Given the description of an element on the screen output the (x, y) to click on. 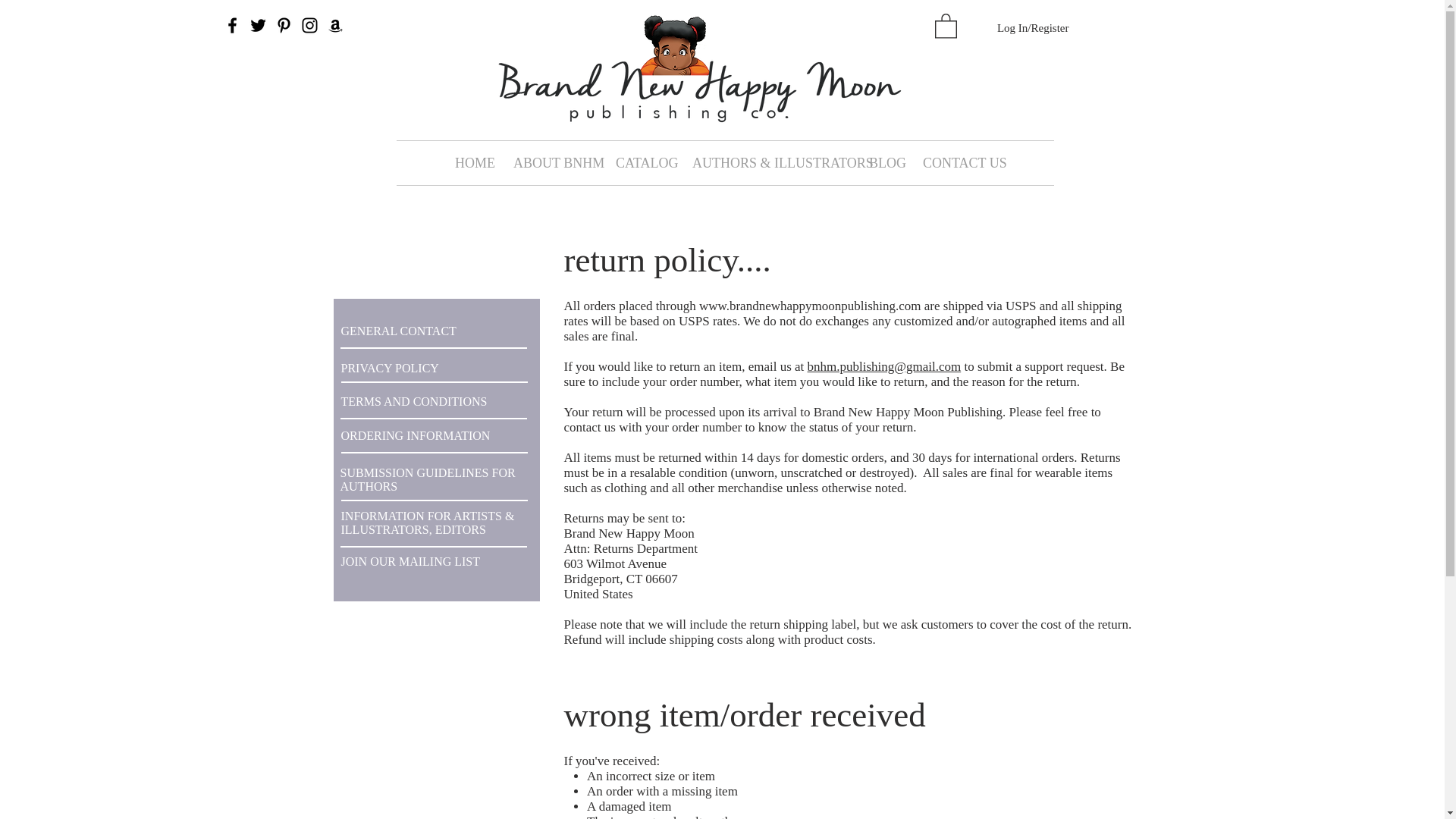
JOIN OUR MAILING LIST (410, 561)
ABOUT BNHM (553, 162)
GENERAL CONTACT (398, 330)
BLOG (884, 162)
CONTACT US (958, 162)
ORDERING INFORMATION (415, 435)
CATALOG (642, 162)
www.brandnewhappymoonpublishing.com (809, 305)
PRIVACY POLICY (389, 367)
TERMS AND CONDITIONS (413, 400)
